Given the description of an element on the screen output the (x, y) to click on. 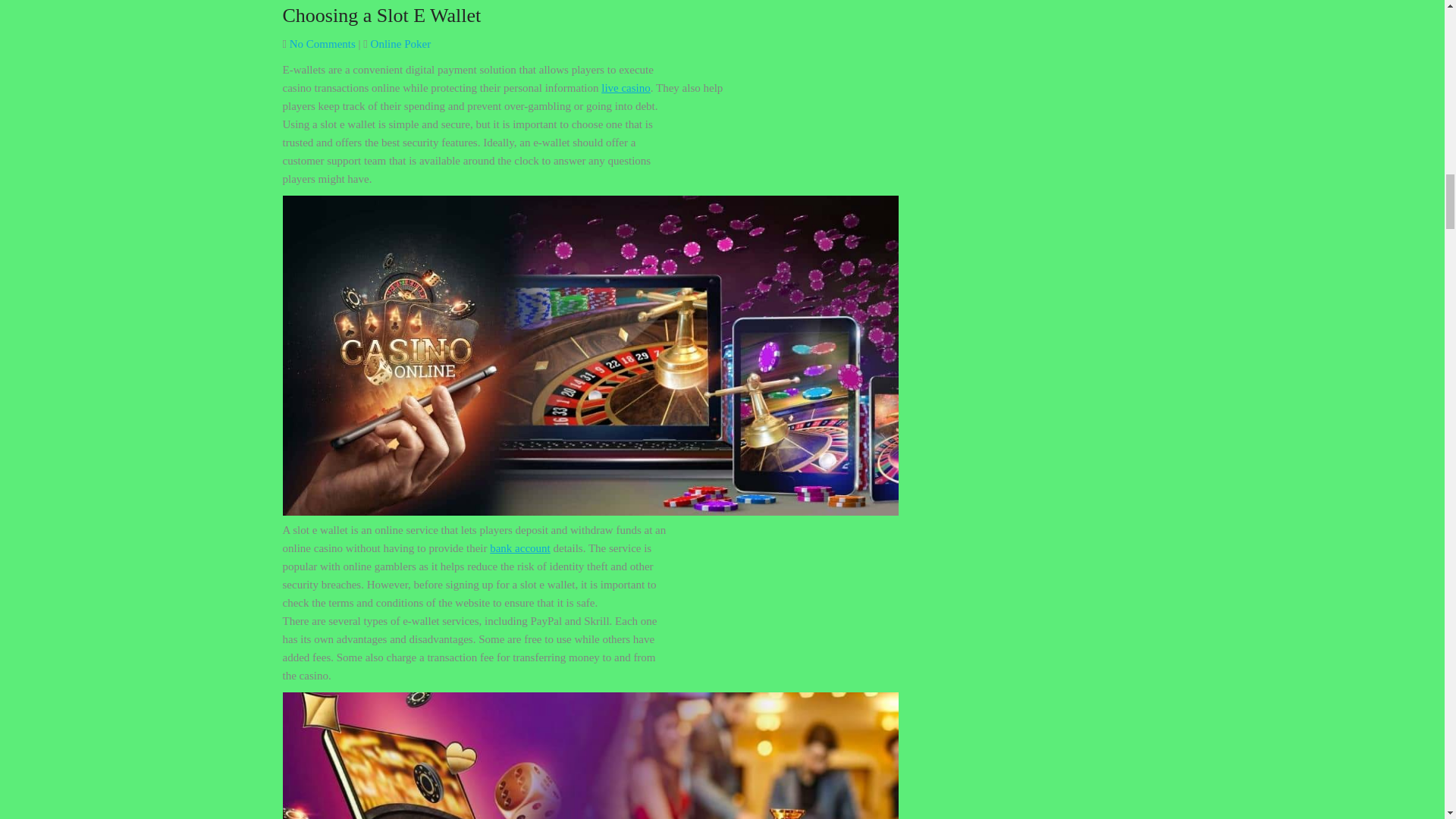
Online Poker (400, 43)
No Comments (322, 43)
Choosing a Slot E Wallet (381, 15)
live casino (625, 87)
bank account (519, 548)
